Given the description of an element on the screen output the (x, y) to click on. 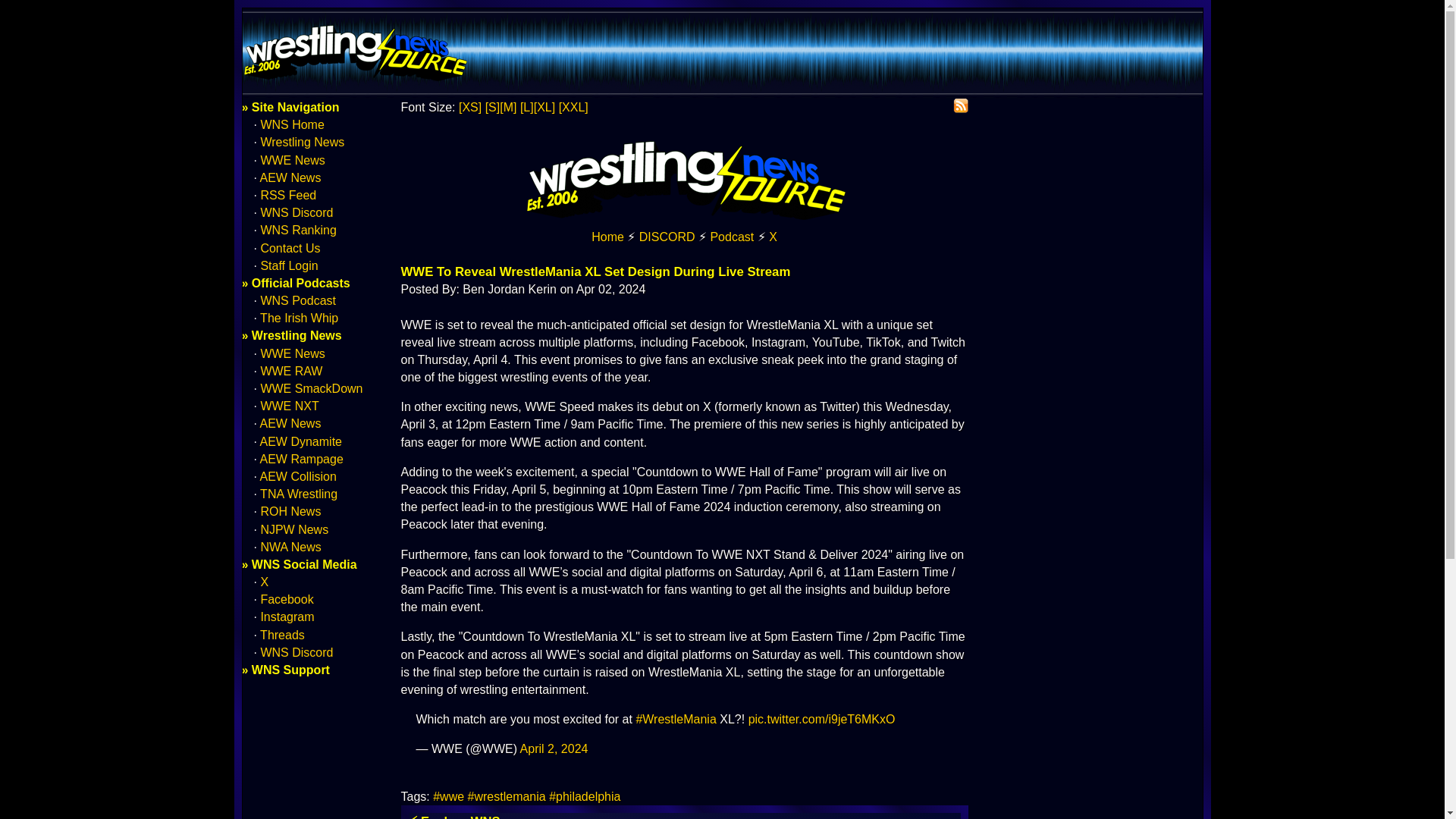
WNS Home (684, 218)
WNS Discord (296, 212)
RSS Feed (287, 195)
WWE News (292, 353)
WWE SmackDown (311, 388)
AEW Collision (298, 476)
WNS Podcast (298, 300)
ROH News (290, 511)
Threads (282, 634)
AEW Rampage (301, 459)
WWE NXT (289, 405)
NWA News (290, 546)
AEW News (290, 177)
WWE News (292, 160)
TNA Wrestling (298, 493)
